Given the description of an element on the screen output the (x, y) to click on. 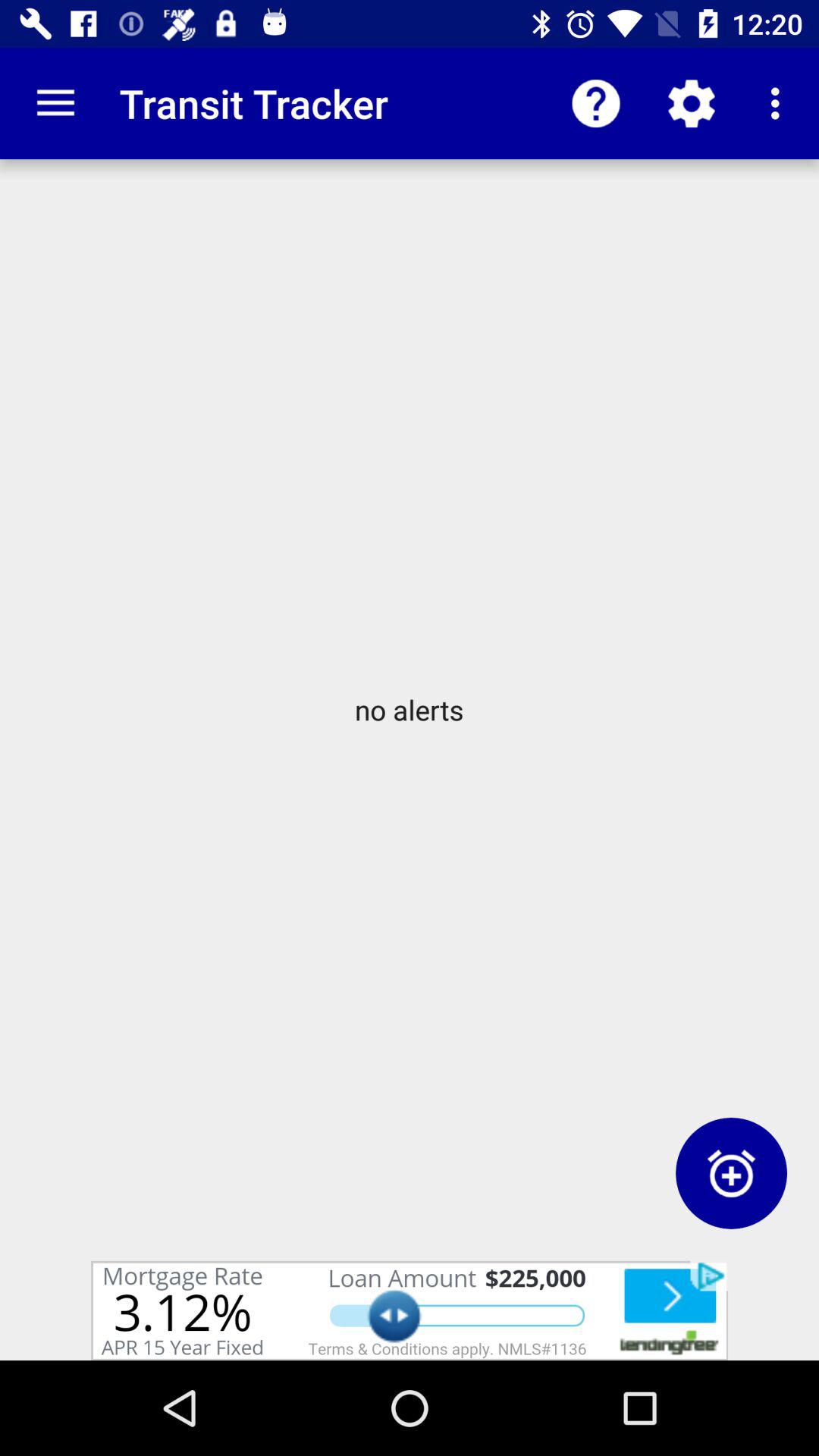
add alert (731, 1173)
